Given the description of an element on the screen output the (x, y) to click on. 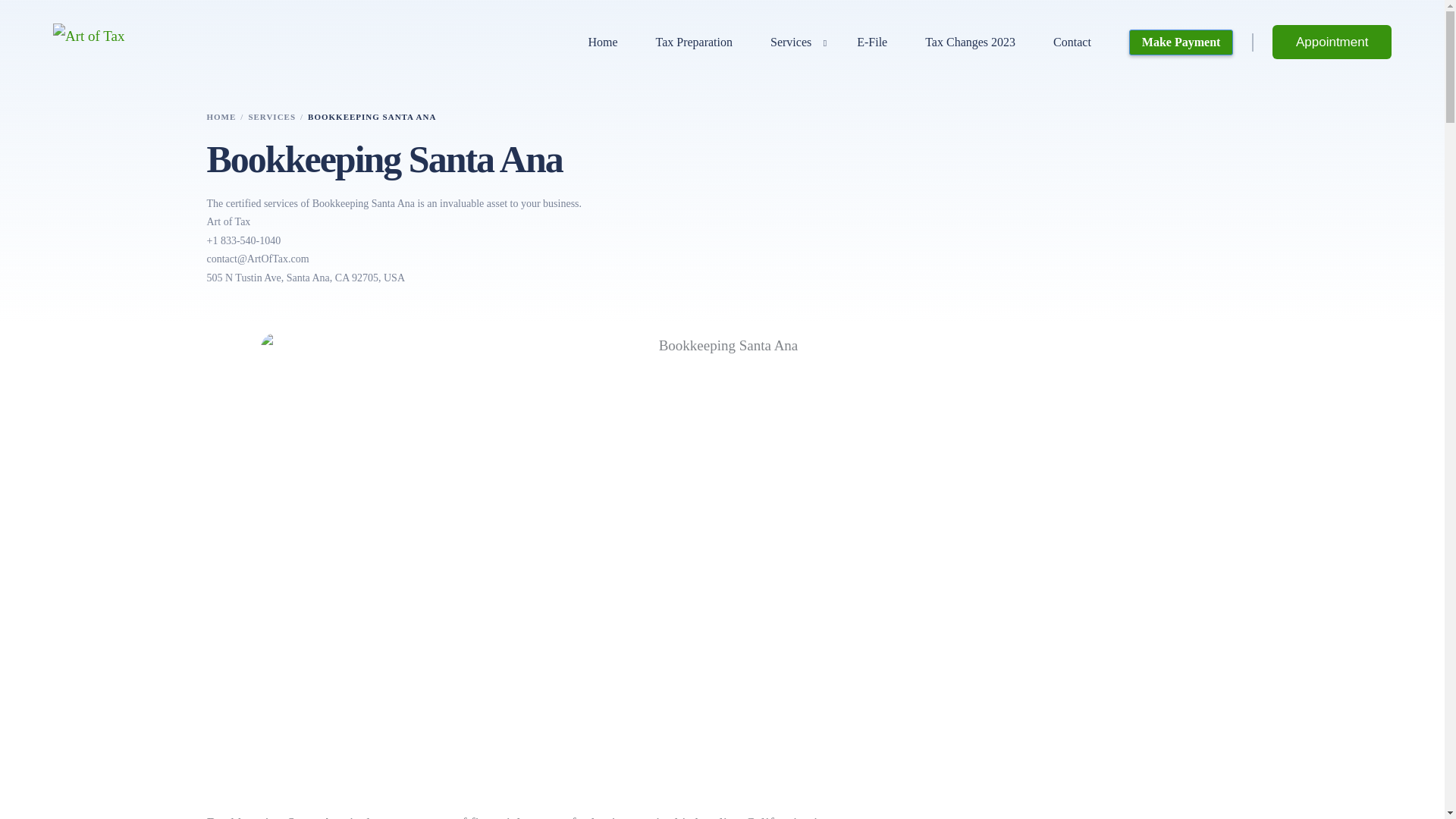
Contact (1071, 42)
SERVICES (271, 116)
Appointment (1331, 41)
Tax Changes 2023 (969, 42)
Make Payment (1181, 42)
Tax Preparation (693, 42)
HOME (220, 116)
Services (794, 42)
